Given the description of an element on the screen output the (x, y) to click on. 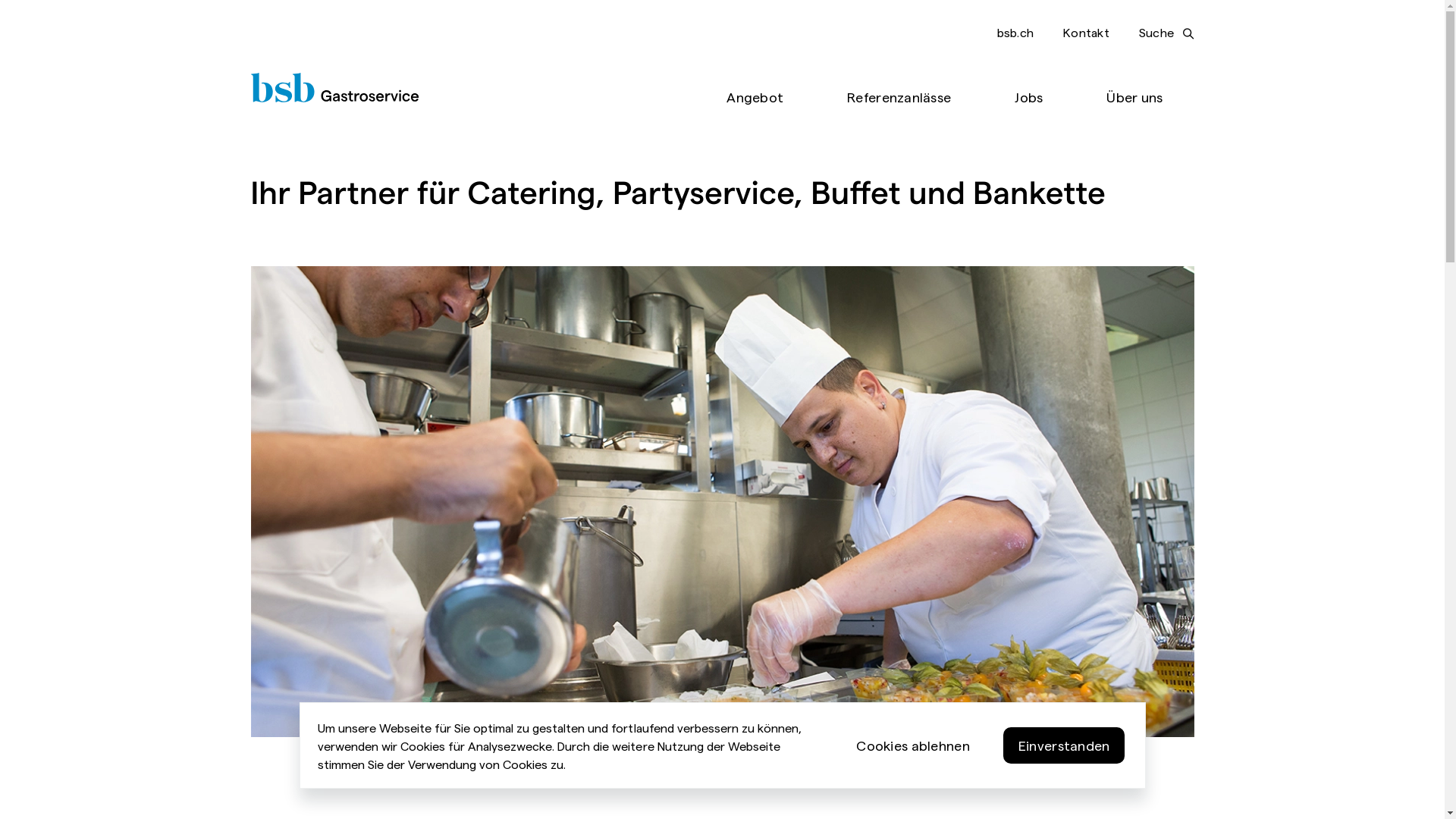
Cookies ablehnen Element type: text (912, 745)
Suche Element type: text (1166, 32)
Mitarbeiter am kochen Element type: hover (721, 501)
Jobs Element type: text (1028, 97)
bsb.ch Element type: text (1015, 31)
Angebot Element type: text (754, 97)
Einverstanden Element type: text (1064, 745)
Kontakt Element type: text (1086, 31)
